Given the description of an element on the screen output the (x, y) to click on. 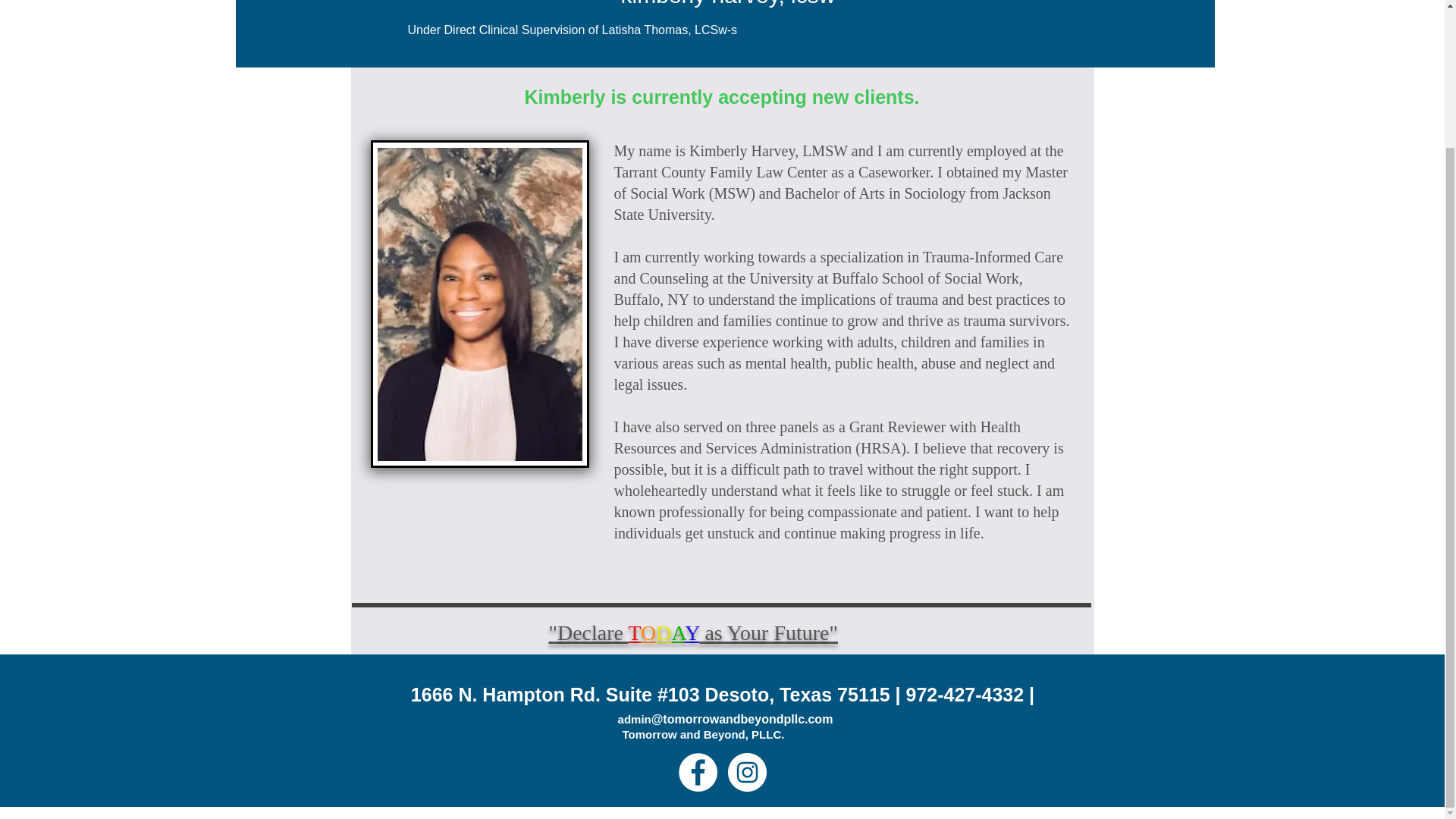
Tomorrow and Beyond, PLLC. (702, 734)
